Given the description of an element on the screen output the (x, y) to click on. 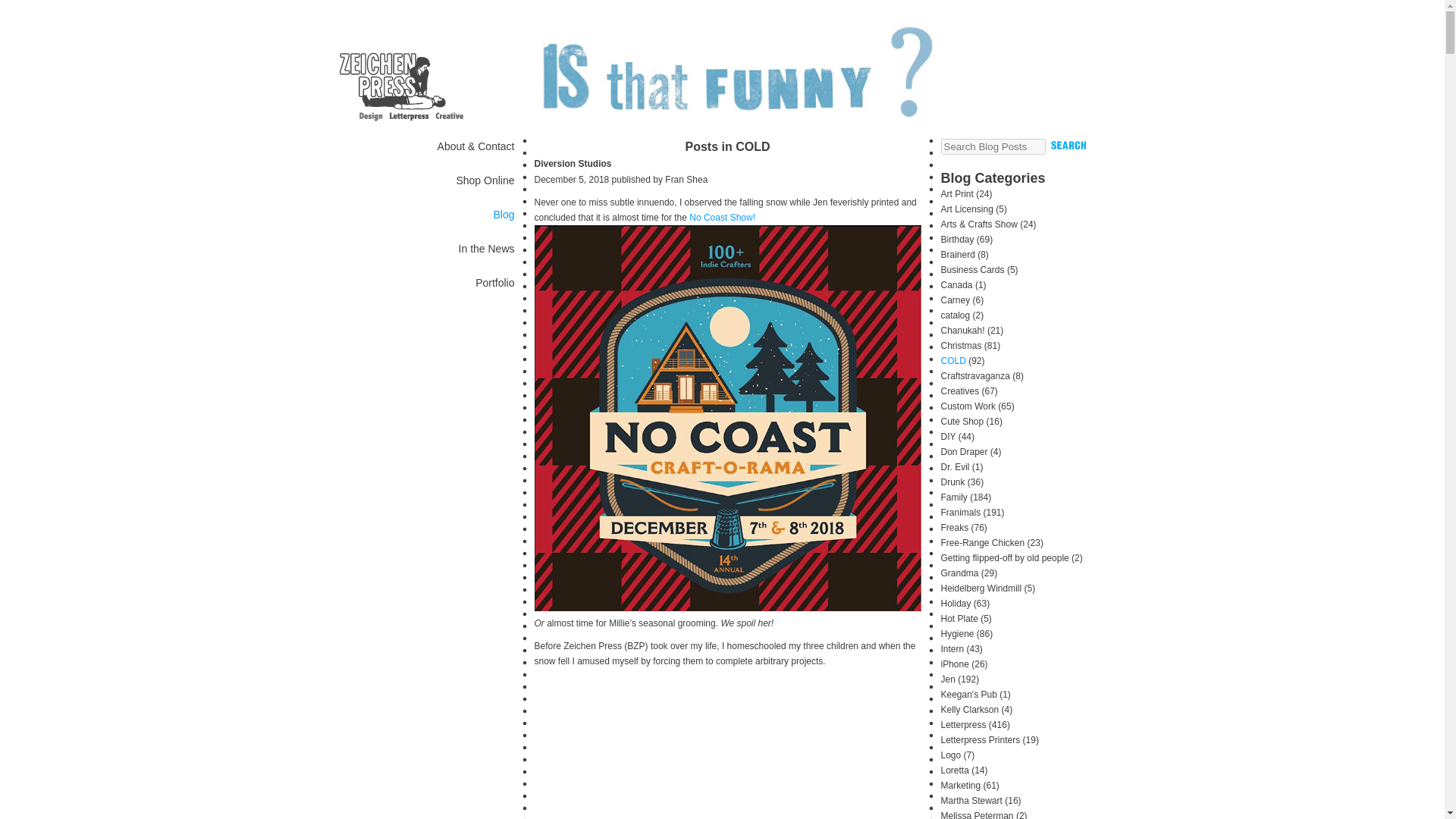
Diversion Studios (572, 163)
Search (1068, 144)
Shop Online (484, 180)
Portfolio (494, 282)
Search (1068, 144)
In the News (486, 248)
No Coast Show! (721, 217)
Blog (503, 214)
Search (1068, 144)
